Given the description of an element on the screen output the (x, y) to click on. 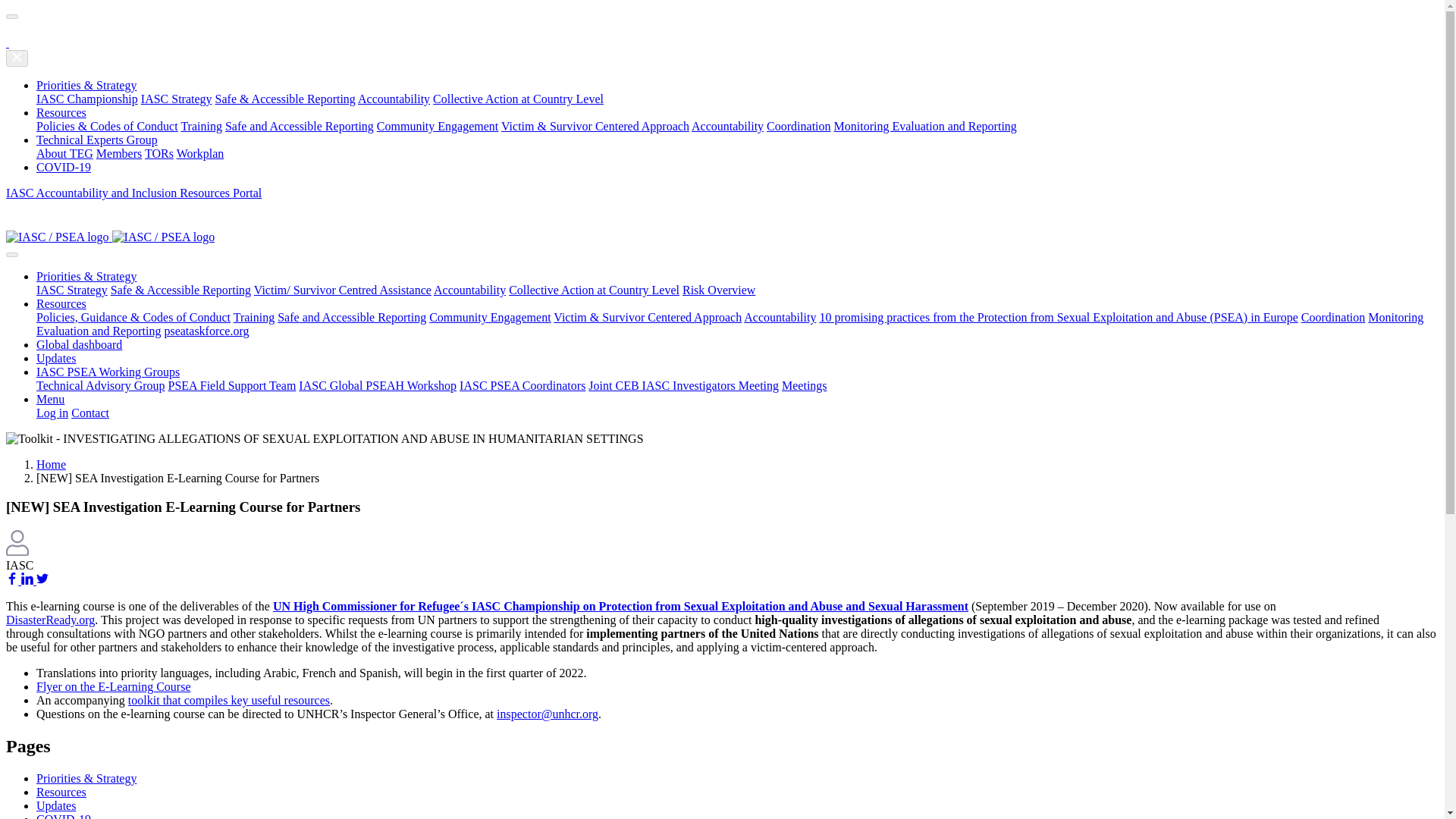
COVID-19 (63, 166)
Technical Experts Group (96, 139)
Accountability (469, 289)
About TEG (64, 153)
Accountability (393, 98)
Members (118, 153)
Community Engagement (437, 125)
IASC Accountability and Inclusion Resources Portal (133, 192)
IASC Championship (87, 98)
Training (201, 125)
